Given the description of an element on the screen output the (x, y) to click on. 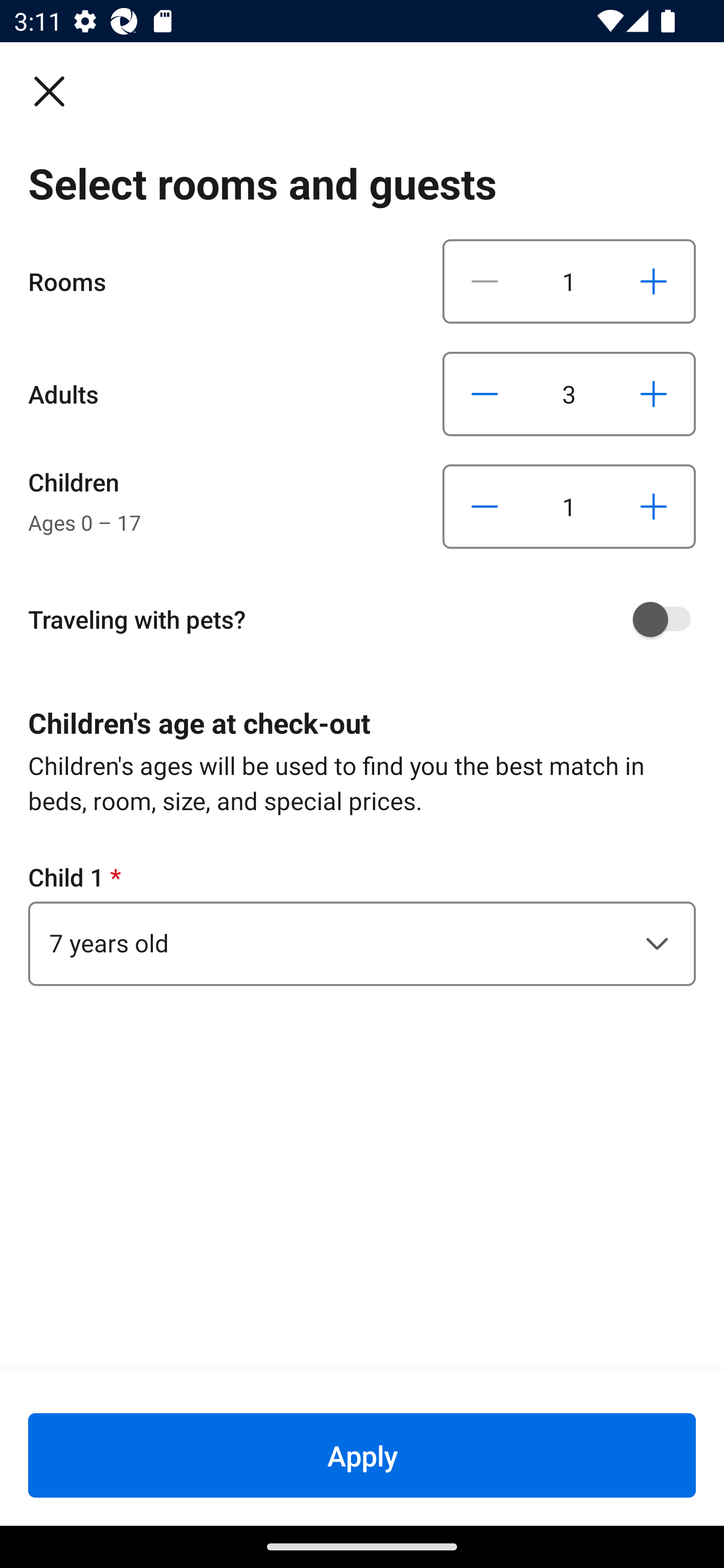
Decrease (484, 281)
Increase (653, 281)
Decrease (484, 393)
Increase (653, 393)
Decrease (484, 506)
Increase (653, 506)
Traveling with pets? (369, 619)
Child 1
required Child 1 * 7 years old (361, 922)
Apply (361, 1454)
